Given the description of an element on the screen output the (x, y) to click on. 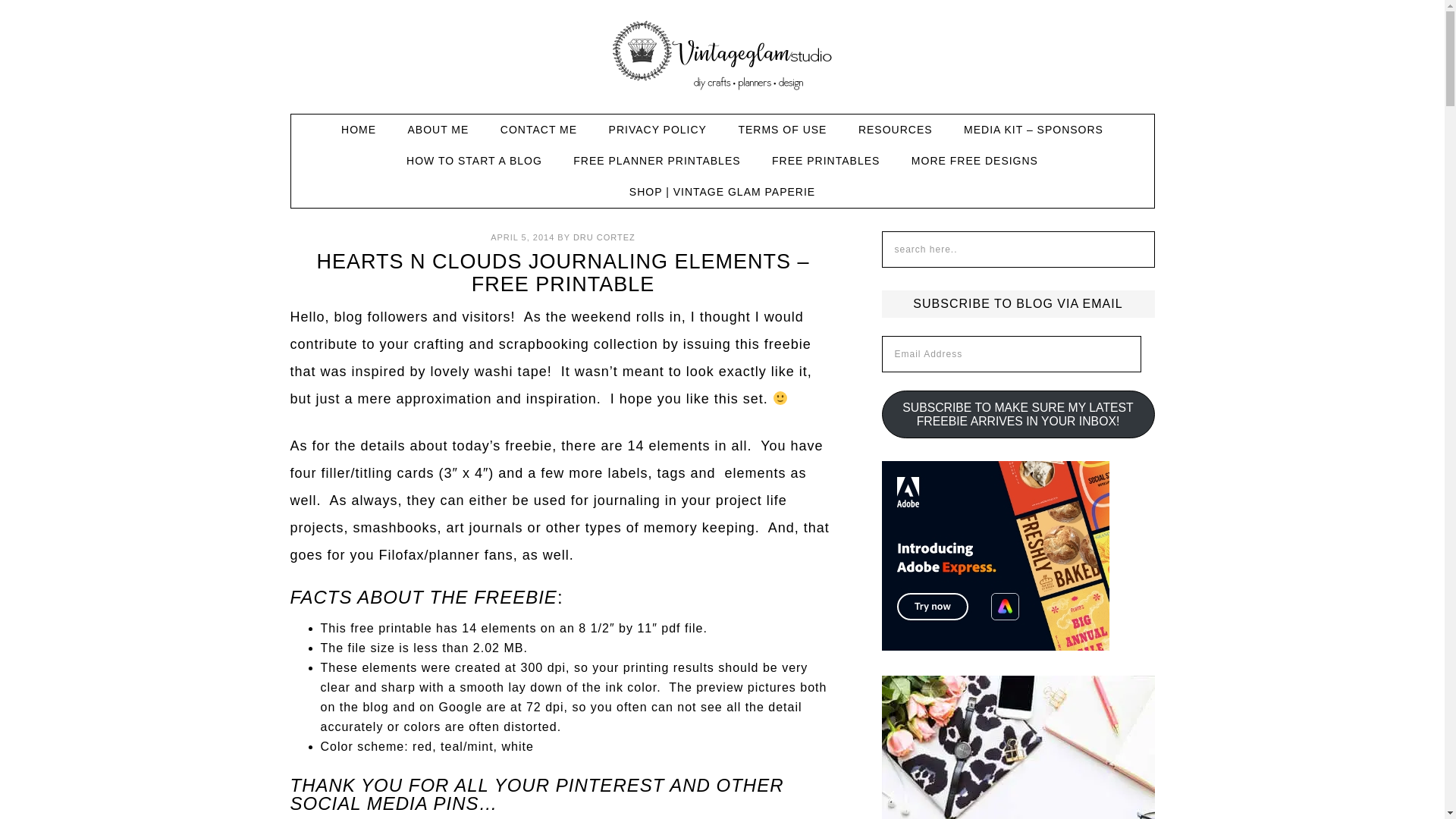
HOW TO START A BLOG (474, 160)
CONTACT ME (538, 129)
PRIVACY POLICY (657, 129)
FREE PRINTABLES (825, 160)
ABOUT ME (438, 129)
MORE FREE DESIGNS (974, 160)
RESOURCES (895, 129)
